Given the description of an element on the screen output the (x, y) to click on. 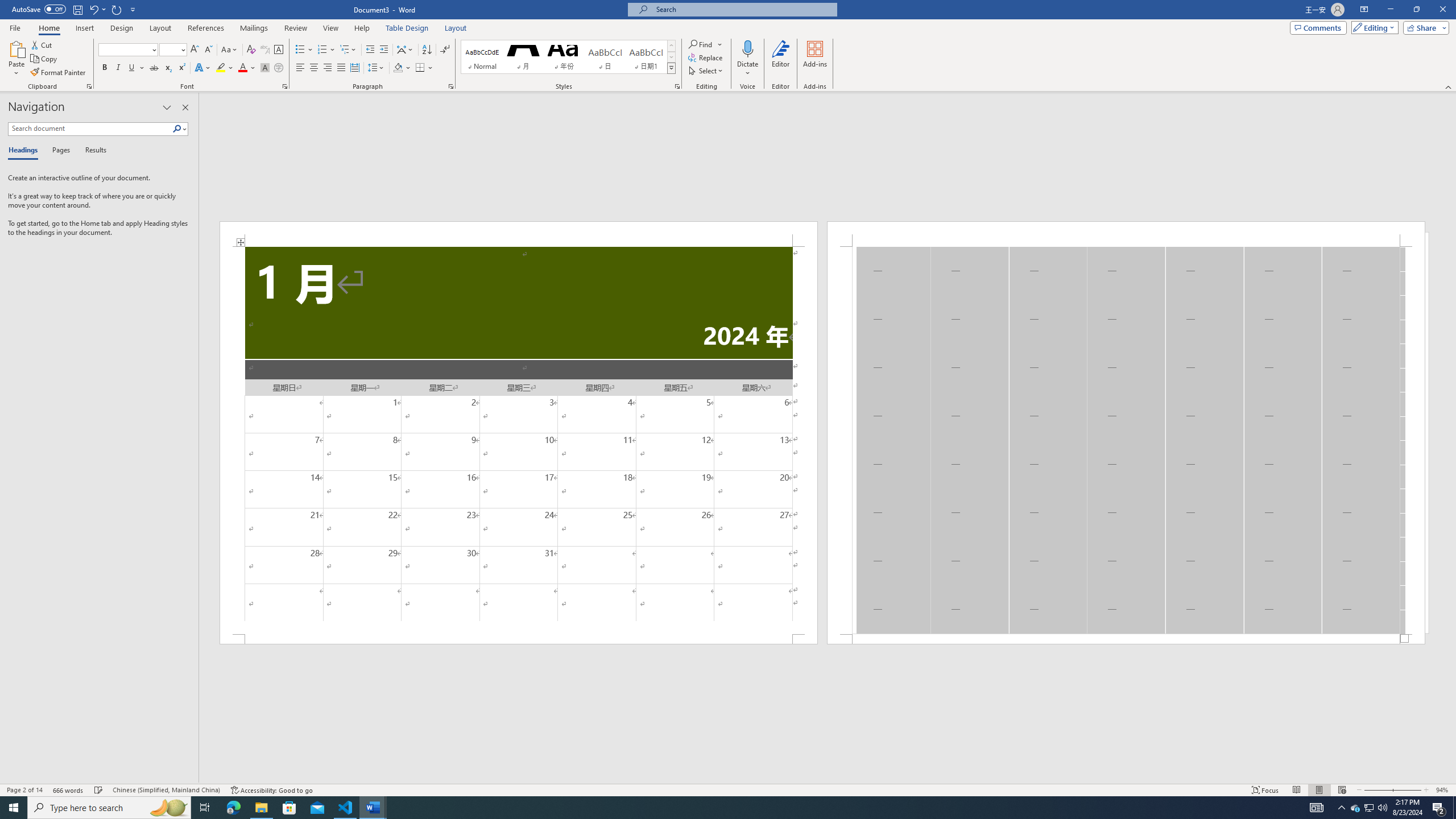
Show/Hide Editing Marks (444, 49)
Footer -Section 1- (1126, 638)
Quick Access Toolbar (74, 9)
Italic (118, 67)
Language Chinese (Simplified, Mainland China) (165, 790)
Sort... (426, 49)
Bold (104, 67)
Change Case (229, 49)
Undo Apply Quick Style (96, 9)
Superscript (180, 67)
Styles... (676, 85)
Search document (89, 128)
